Given the description of an element on the screen output the (x, y) to click on. 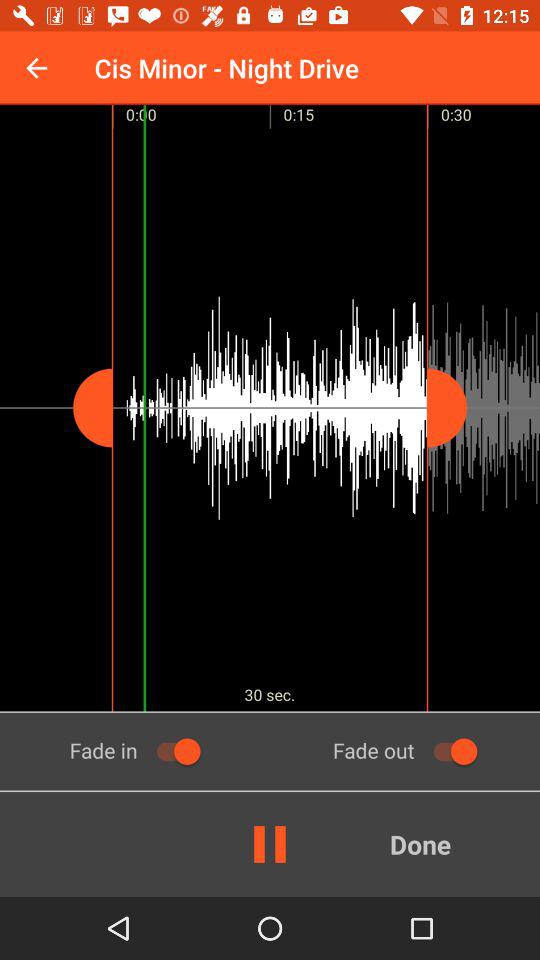
go back (36, 68)
